Given the description of an element on the screen output the (x, y) to click on. 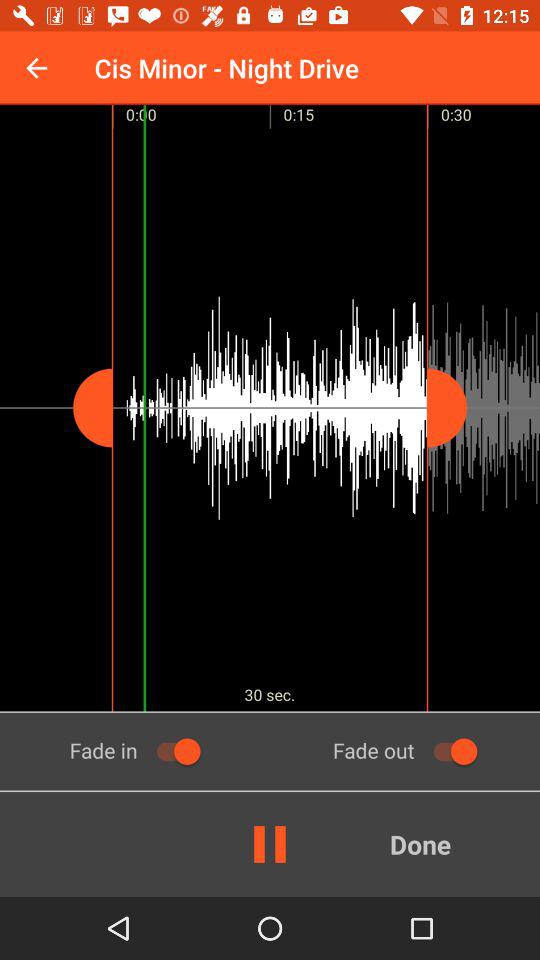
go back (36, 68)
